Given the description of an element on the screen output the (x, y) to click on. 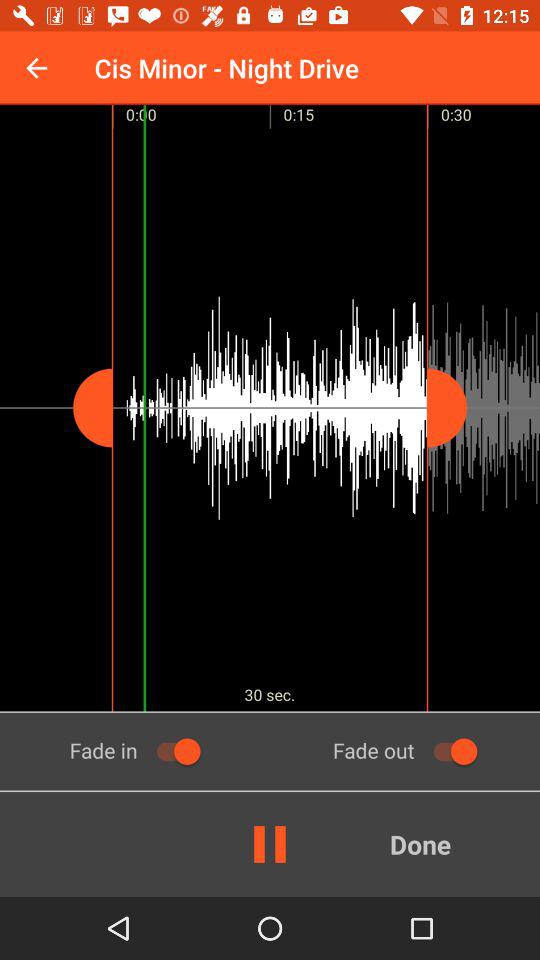
go back (36, 68)
